Given the description of an element on the screen output the (x, y) to click on. 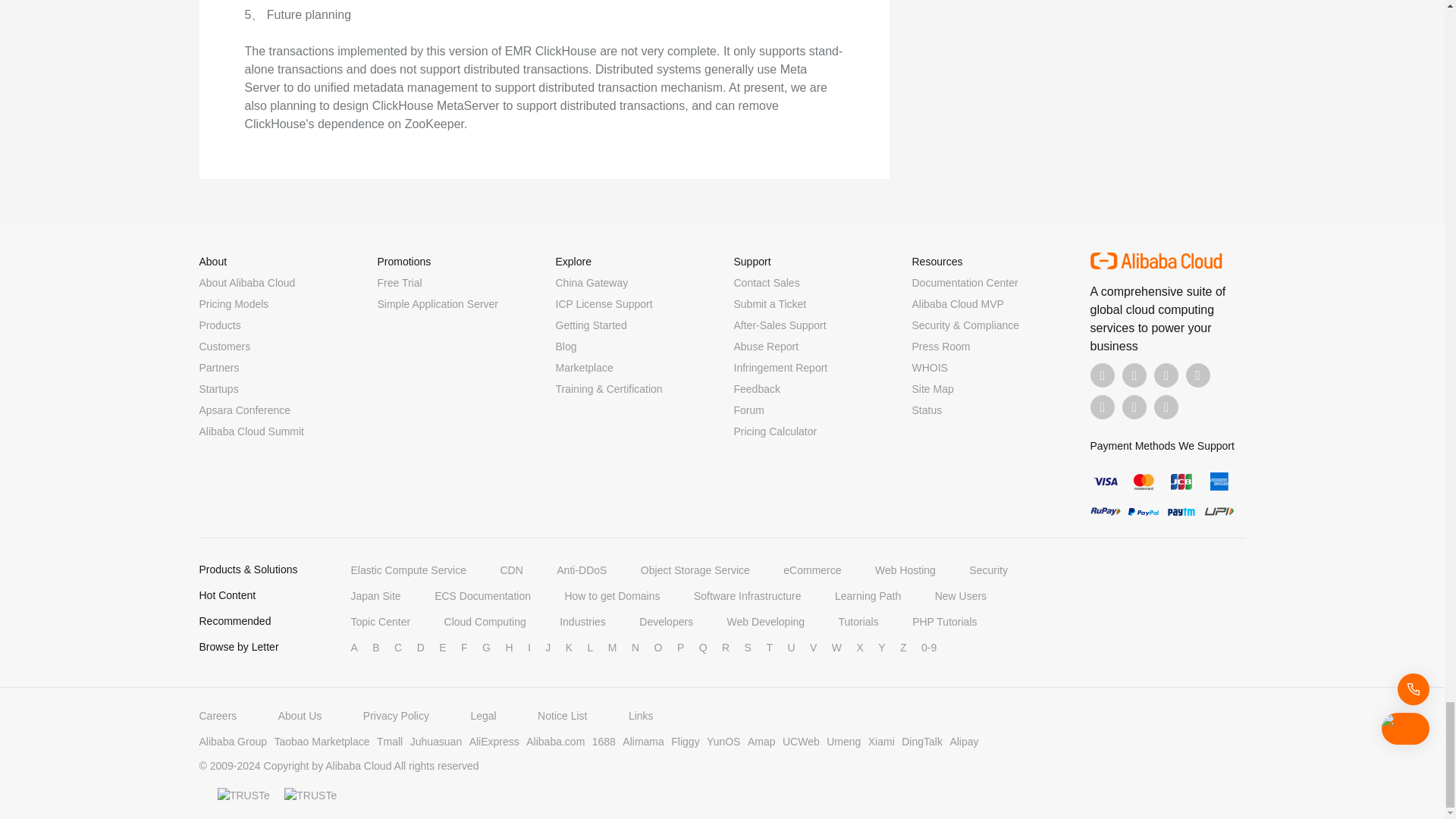
Call Us Now (1165, 406)
TikTok (1102, 406)
YouTube (1197, 375)
Twitter (1165, 375)
Facebook (1102, 375)
Linkedin (1134, 375)
